Given the description of an element on the screen output the (x, y) to click on. 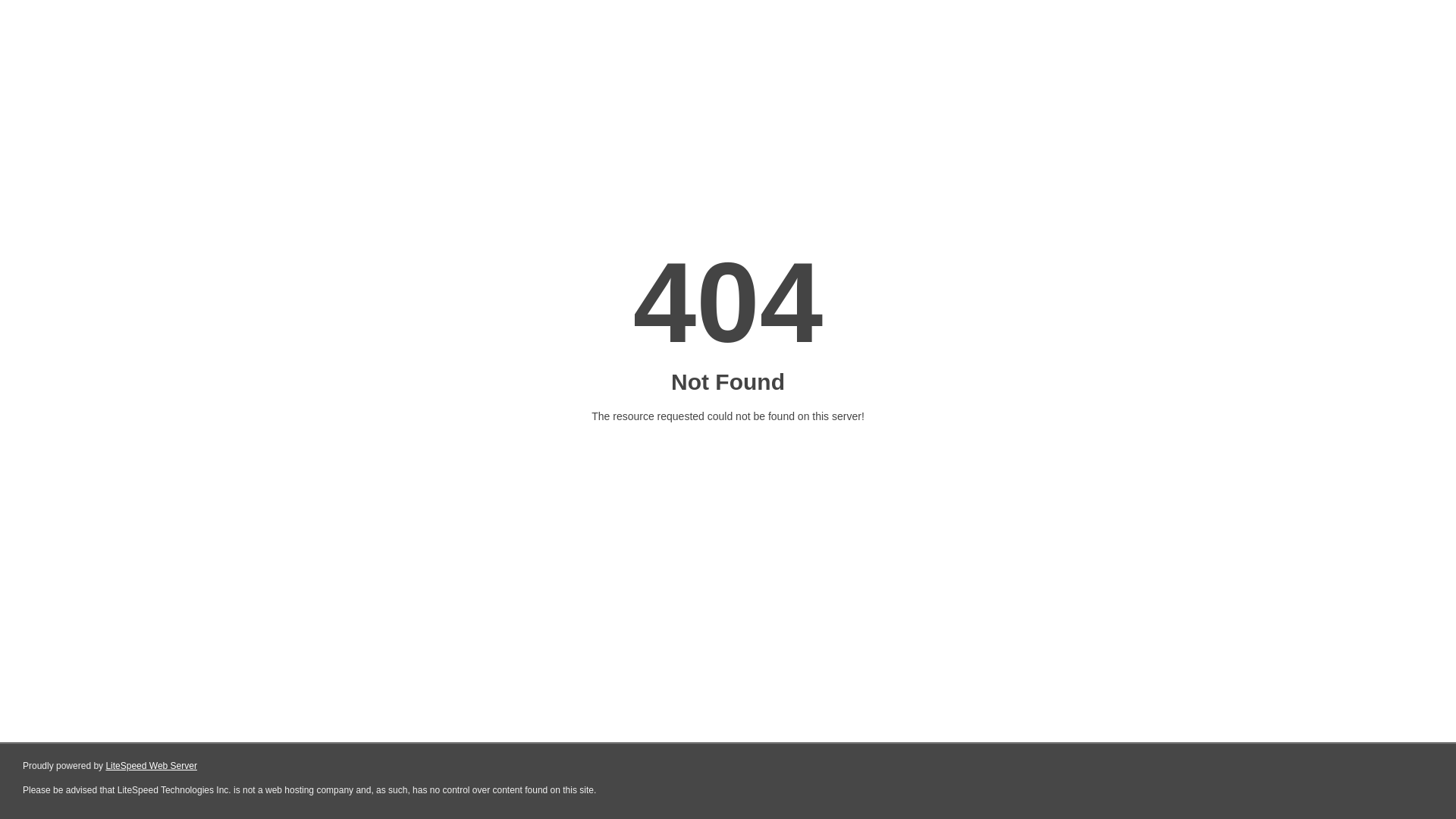
LiteSpeed Web Server Element type: text (151, 765)
